Given the description of an element on the screen output the (x, y) to click on. 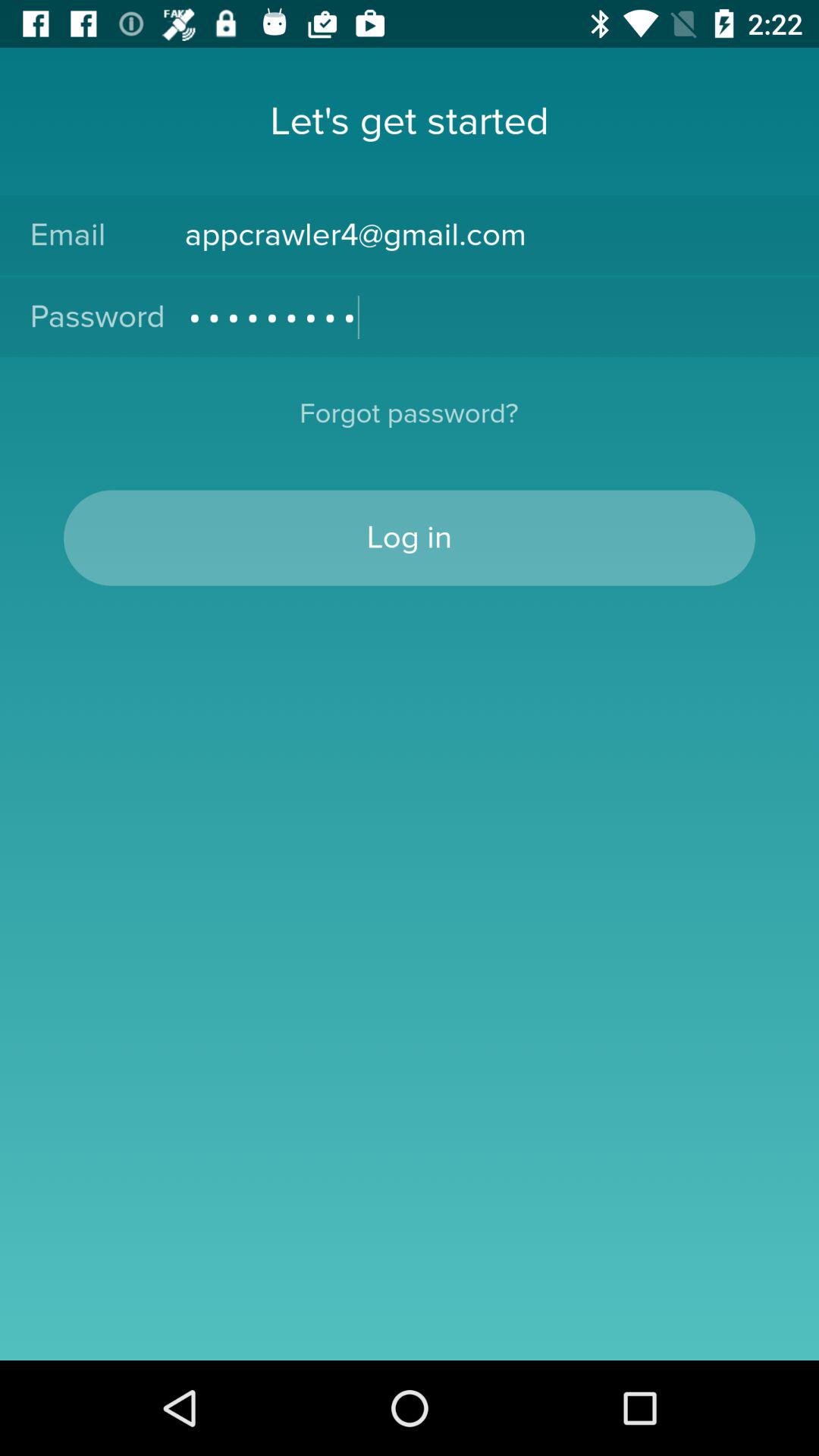
choose icon below forgot password? (409, 537)
